Given the description of an element on the screen output the (x, y) to click on. 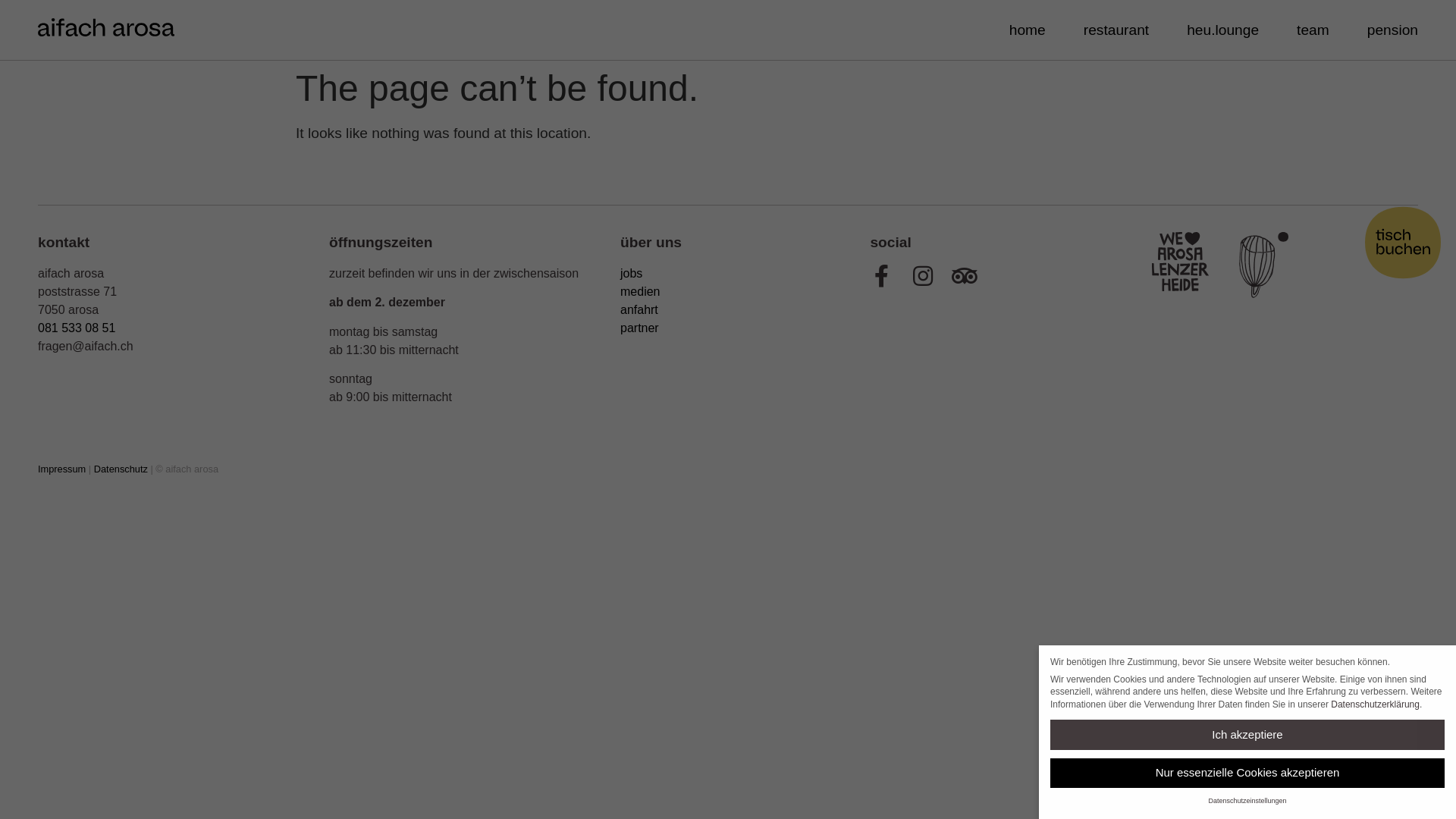
Datenschutzeinstellungen Element type: text (1247, 800)
pension Element type: text (1392, 29)
heu.lounge Element type: text (1222, 29)
restaurant Element type: text (1115, 29)
081 533 08 51 Element type: text (76, 327)
home Element type: text (1027, 29)
partner Element type: text (639, 327)
Datenschutz Element type: text (120, 468)
medien Element type: text (639, 291)
Impressum Element type: text (61, 468)
Ich akzeptiere Element type: text (1247, 734)
team Element type: text (1312, 29)
anfahrt Element type: text (639, 309)
Nur essenzielle Cookies akzeptieren Element type: text (1247, 772)
jobs Element type: text (631, 272)
